Given the description of an element on the screen output the (x, y) to click on. 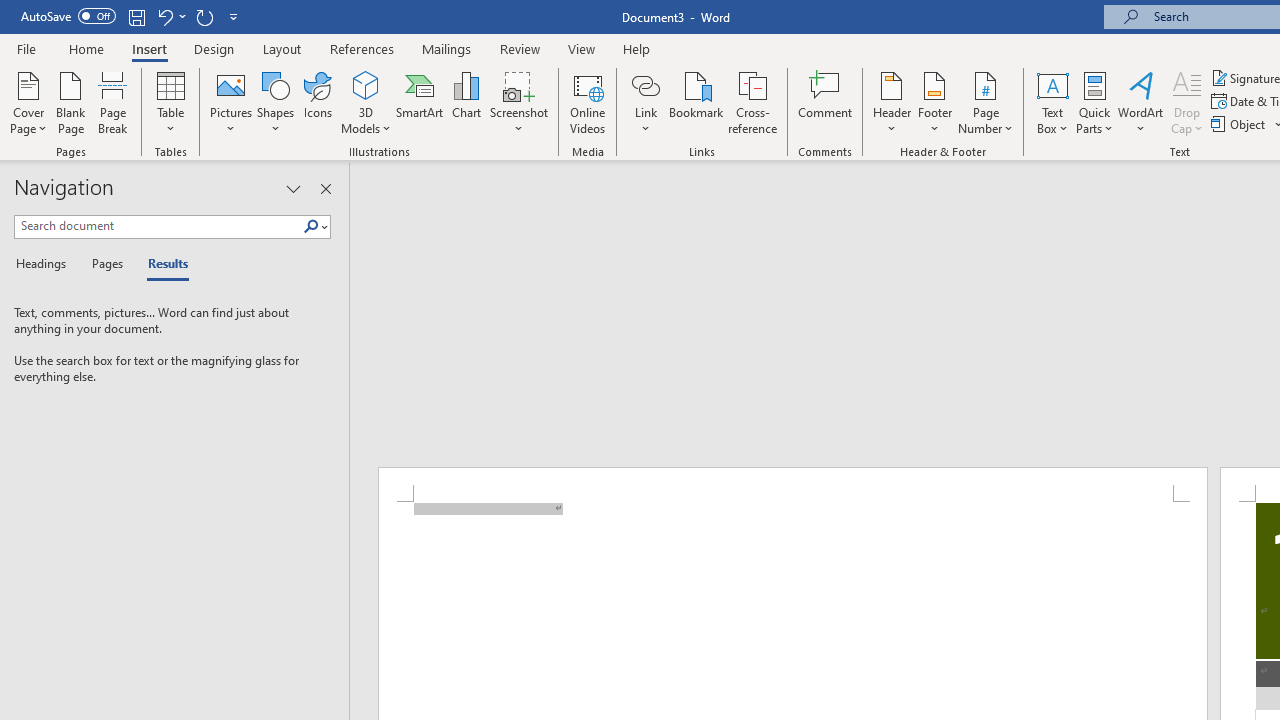
Drop Cap (1187, 102)
Quick Parts (1094, 102)
Table (170, 102)
Header (891, 102)
